Given the description of an element on the screen output the (x, y) to click on. 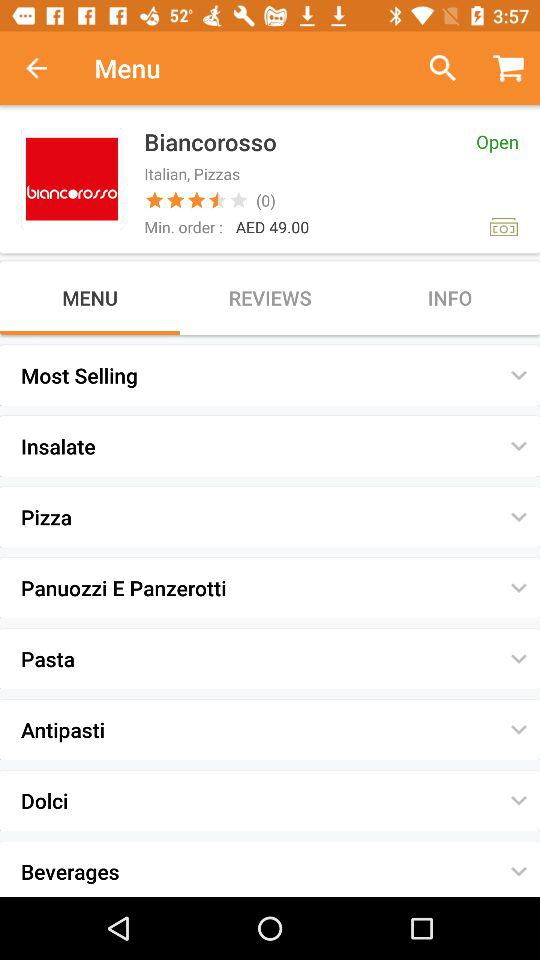
click item to the left of the menu item (47, 68)
